Given the description of an element on the screen output the (x, y) to click on. 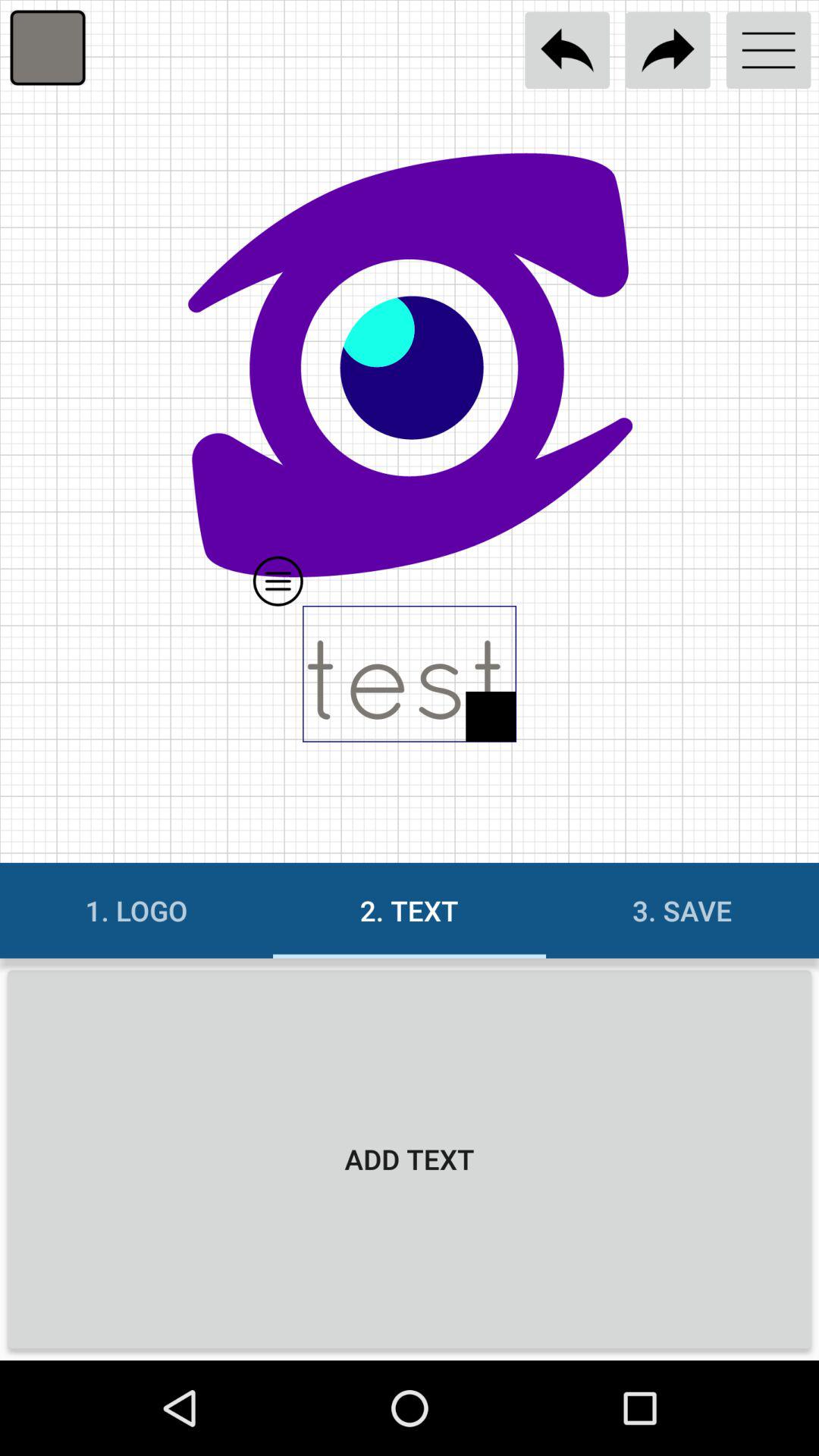
go forward to next page (667, 50)
